Given the description of an element on the screen output the (x, y) to click on. 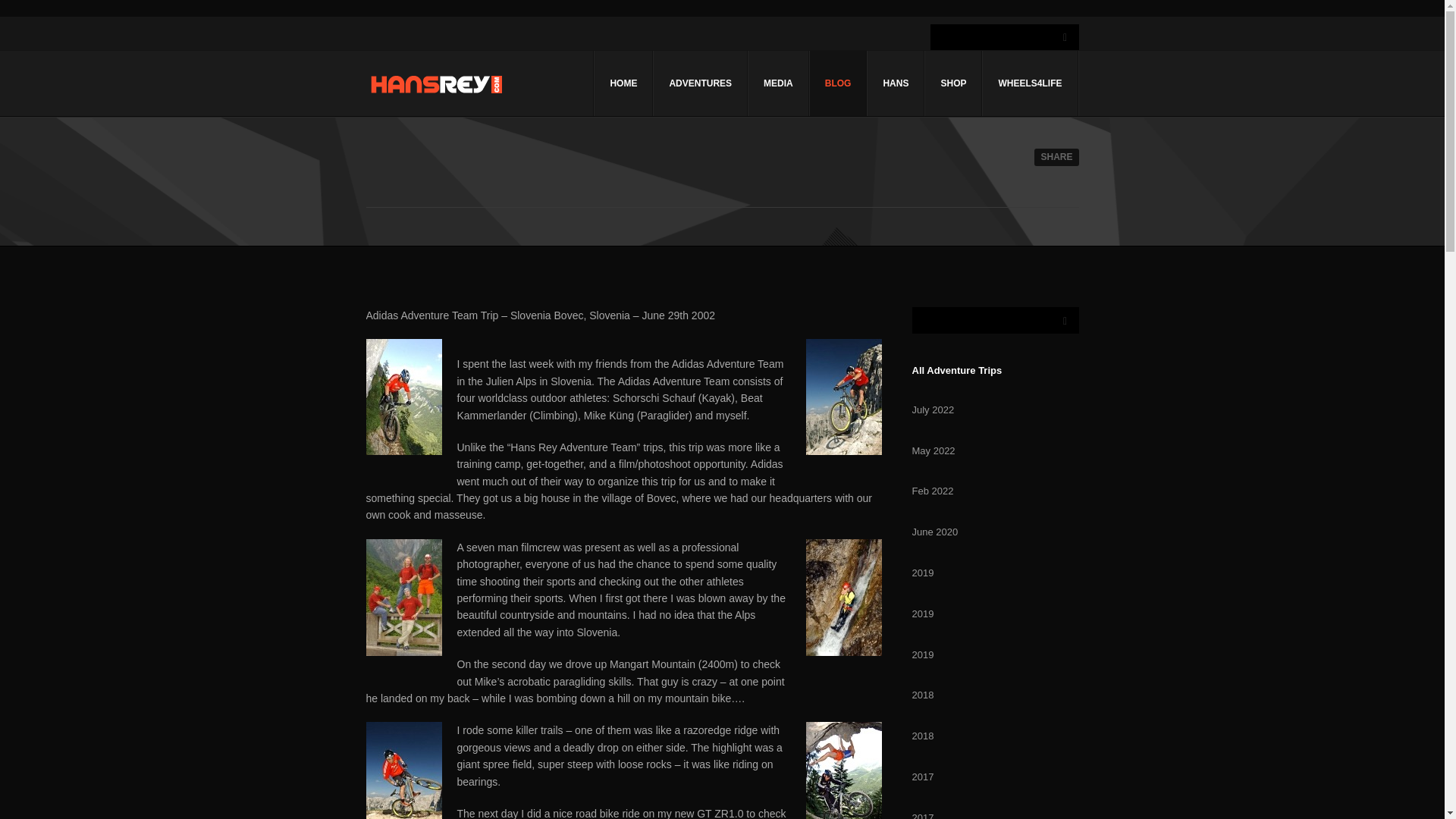
SHARE (1055, 157)
ADVENTURES (700, 83)
Hans Rey Adventure Team (435, 84)
WHEELS4LIFE (1029, 83)
BLOG (838, 83)
MEDIA (778, 83)
HOME (623, 83)
Hans Rey Adventure Team (435, 88)
